Given the description of an element on the screen output the (x, y) to click on. 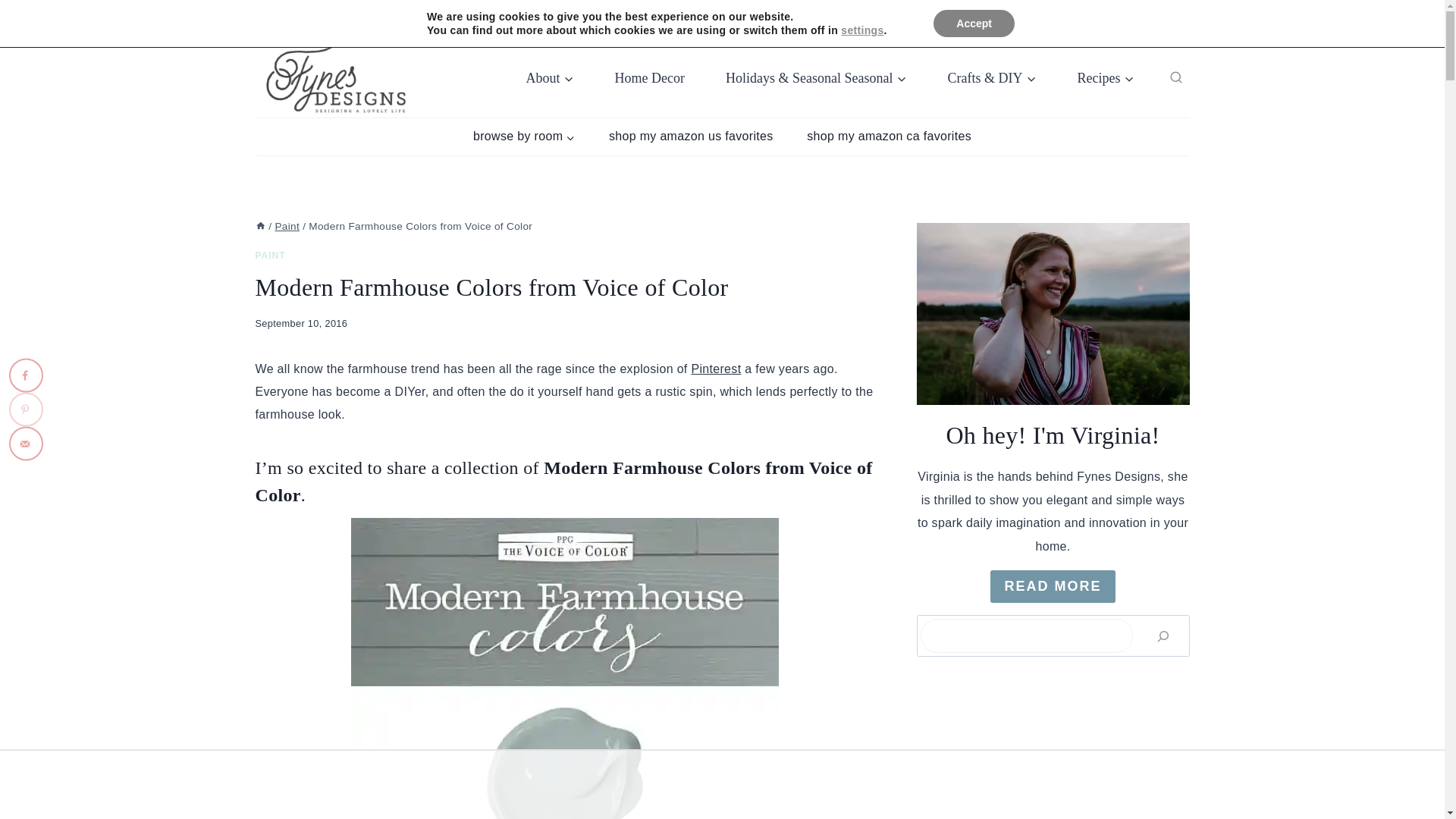
Share on Facebook (25, 374)
Save to Pinterest (25, 409)
About (549, 77)
Home Decor (649, 77)
Home (259, 225)
Recipes (1105, 77)
5 Ways to Make Your Boring Decor Beautiful! (1077, 19)
